Given the description of an element on the screen output the (x, y) to click on. 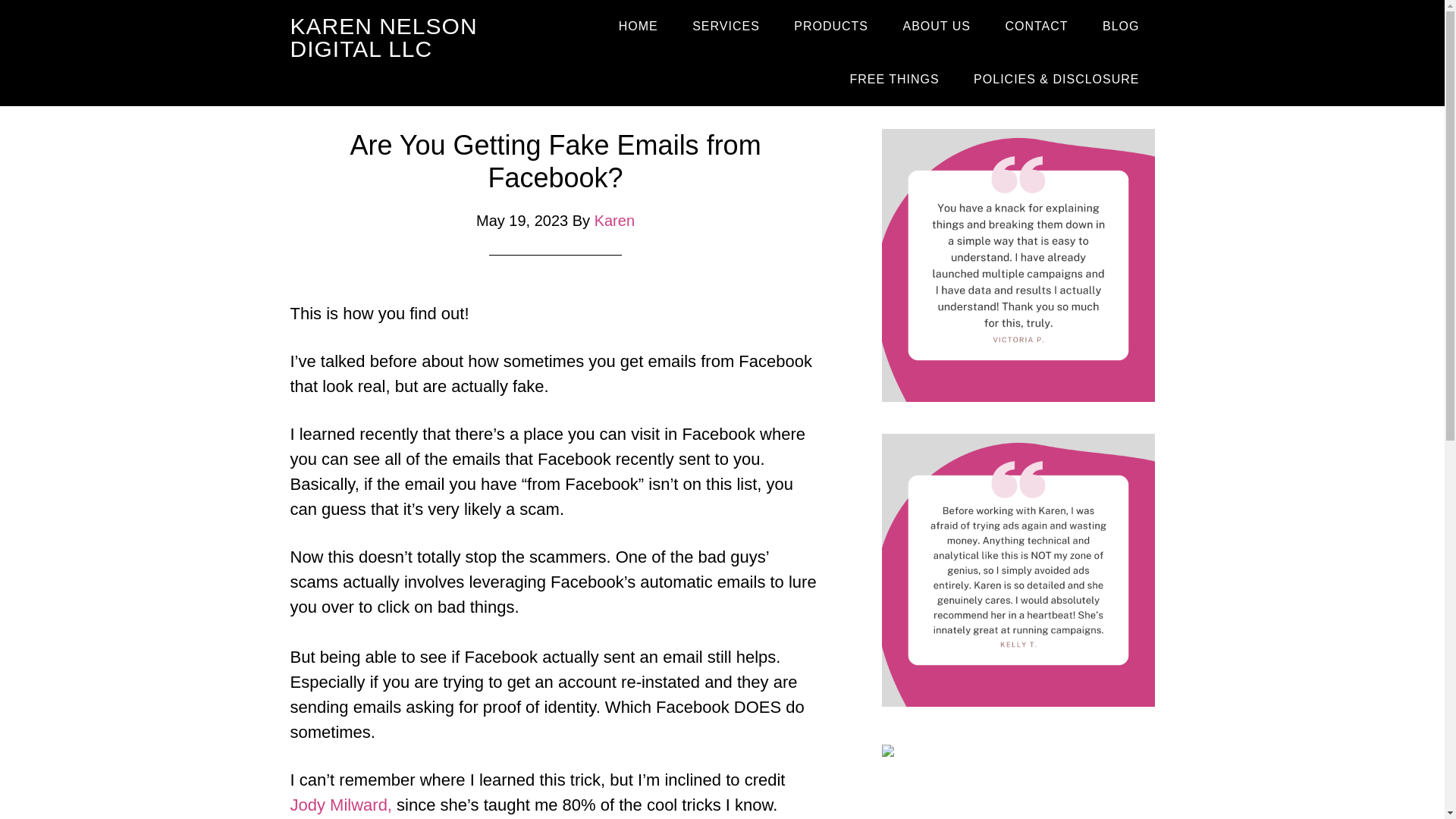
KAREN NELSON DIGITAL LLC (383, 37)
Karen (614, 220)
HOME (638, 26)
ABOUT US (935, 26)
FREE THINGS (893, 79)
CONTACT (1036, 26)
SERVICES (725, 26)
Jody Milward, (340, 804)
BLOG (1120, 26)
PRODUCTS (830, 26)
